Given the description of an element on the screen output the (x, y) to click on. 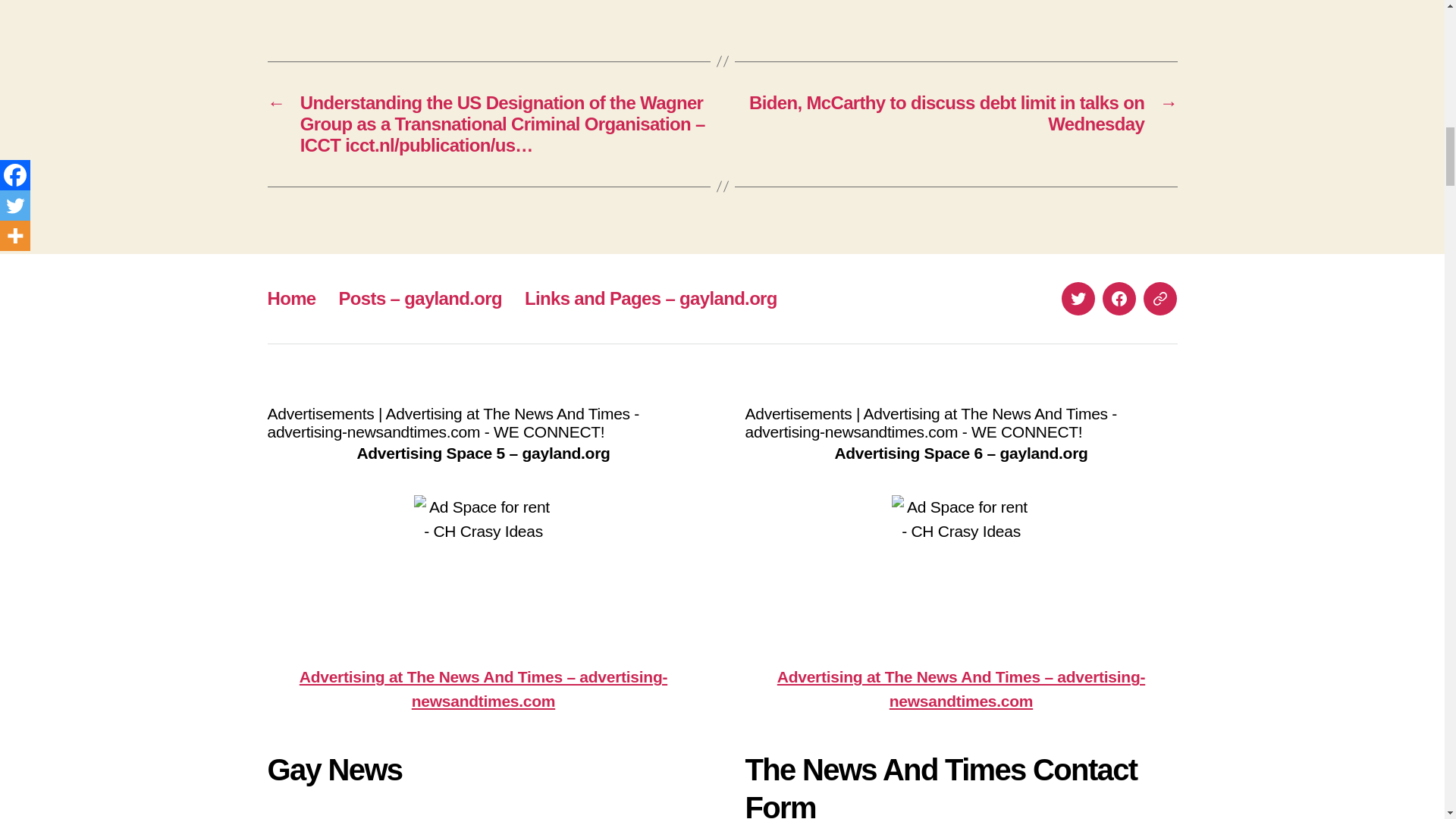
YouTube video player (478, 815)
